Given the description of an element on the screen output the (x, y) to click on. 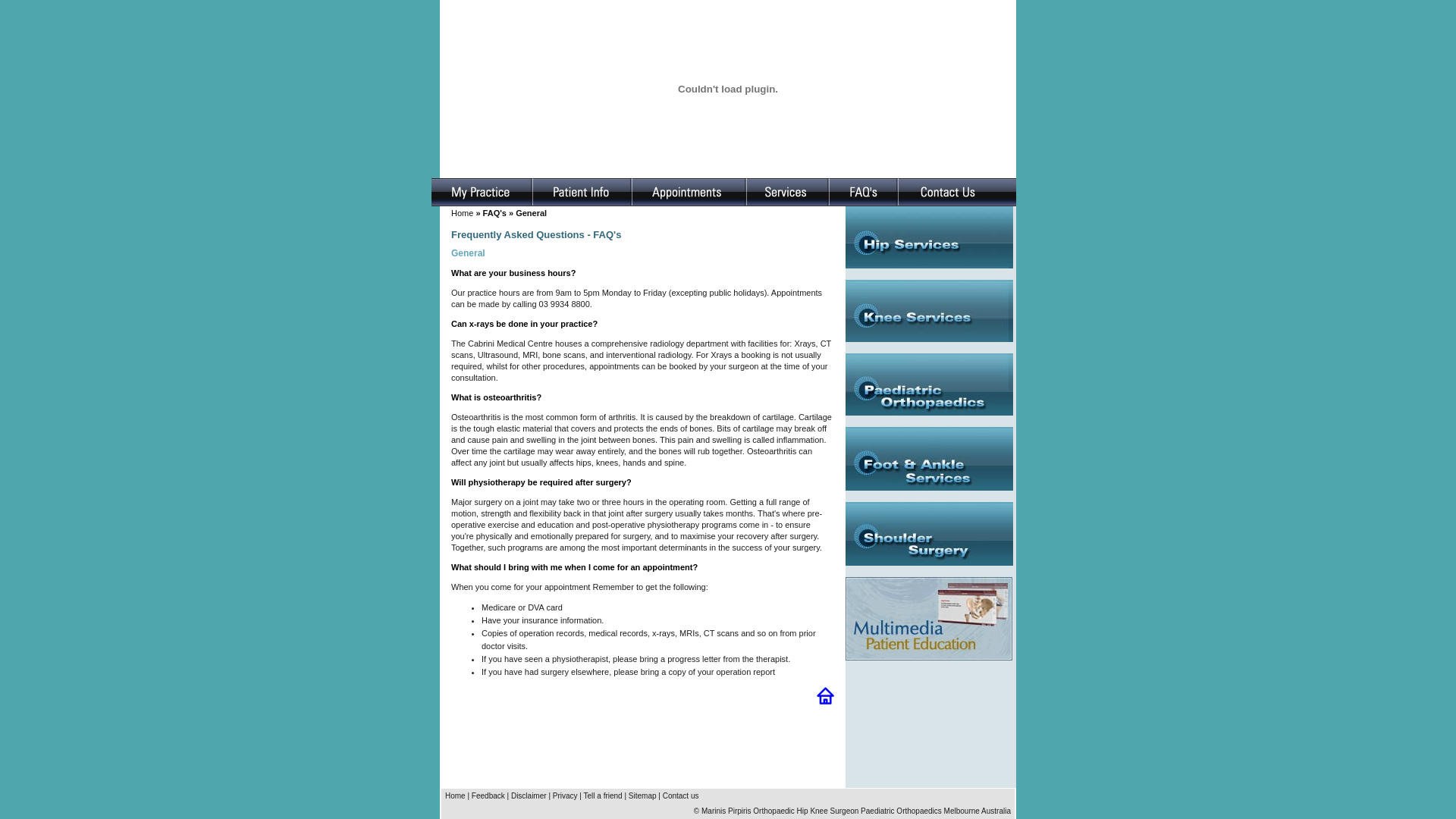
Sitemap Element type: text (642, 795)
Tell a friend Element type: text (602, 795)
Feedback Element type: text (488, 795)
Home Element type: text (455, 795)
Contact us Element type: text (680, 795)
Home Element type: text (462, 212)
Privacy Element type: text (564, 795)
Disclaimer Element type: text (529, 795)
